Given the description of an element on the screen output the (x, y) to click on. 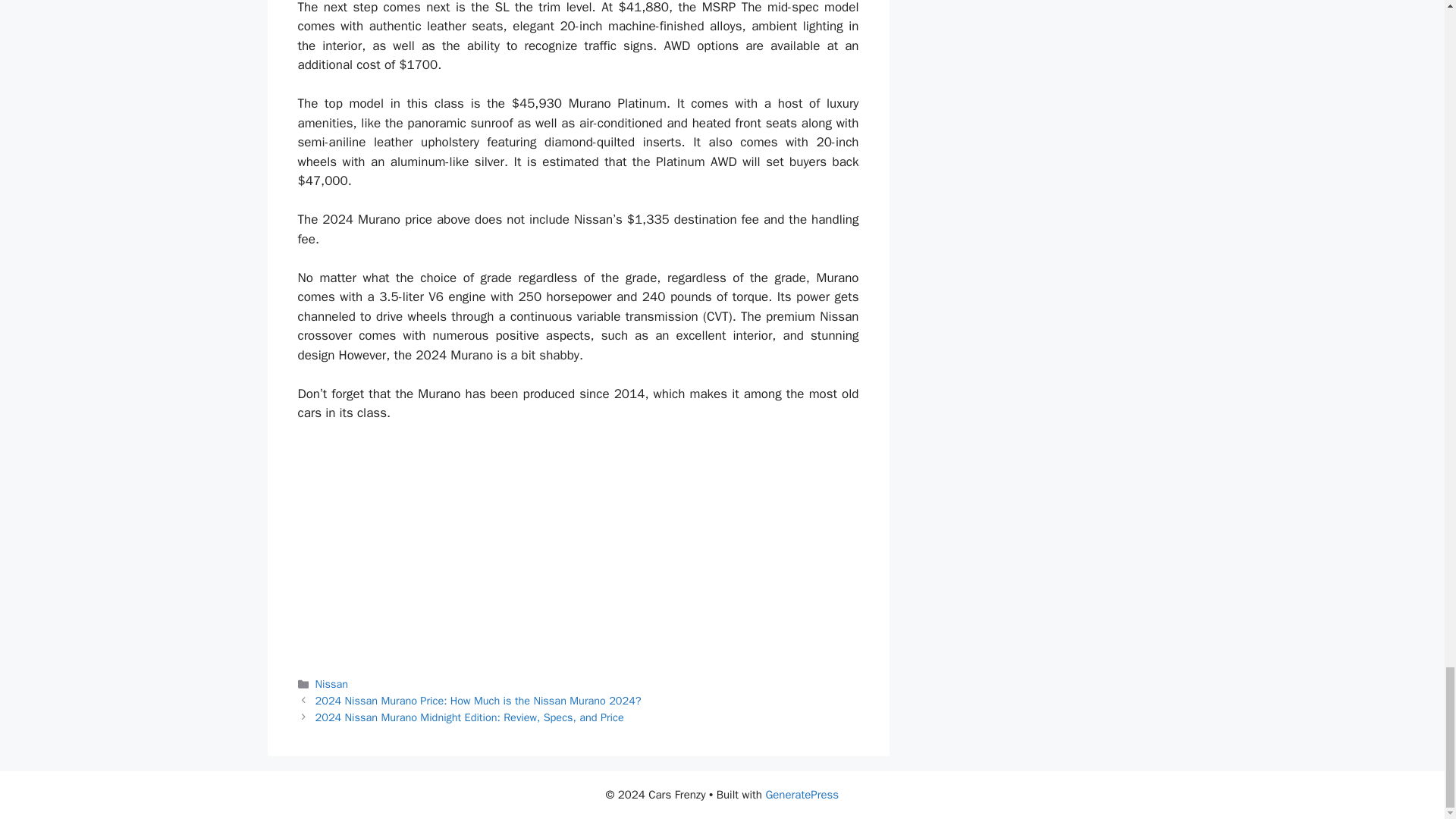
Nissan (332, 684)
GeneratePress (801, 794)
